Given the description of an element on the screen output the (x, y) to click on. 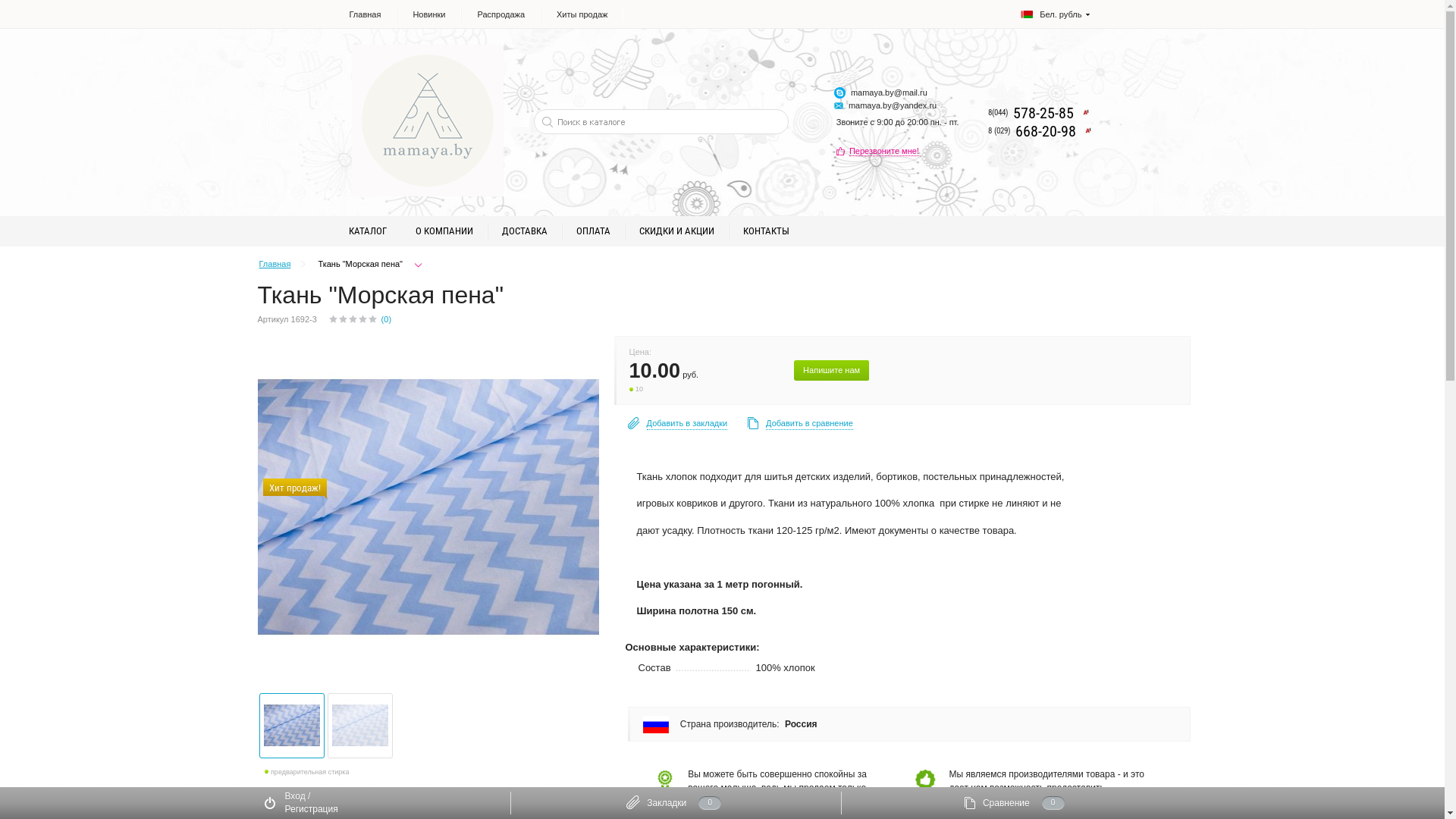
Mamaya.by Element type: hover (427, 120)
mamaya.by@mail.ru Element type: text (888, 92)
mamaya.by@yandex.ru Element type: text (892, 104)
